Given the description of an element on the screen output the (x, y) to click on. 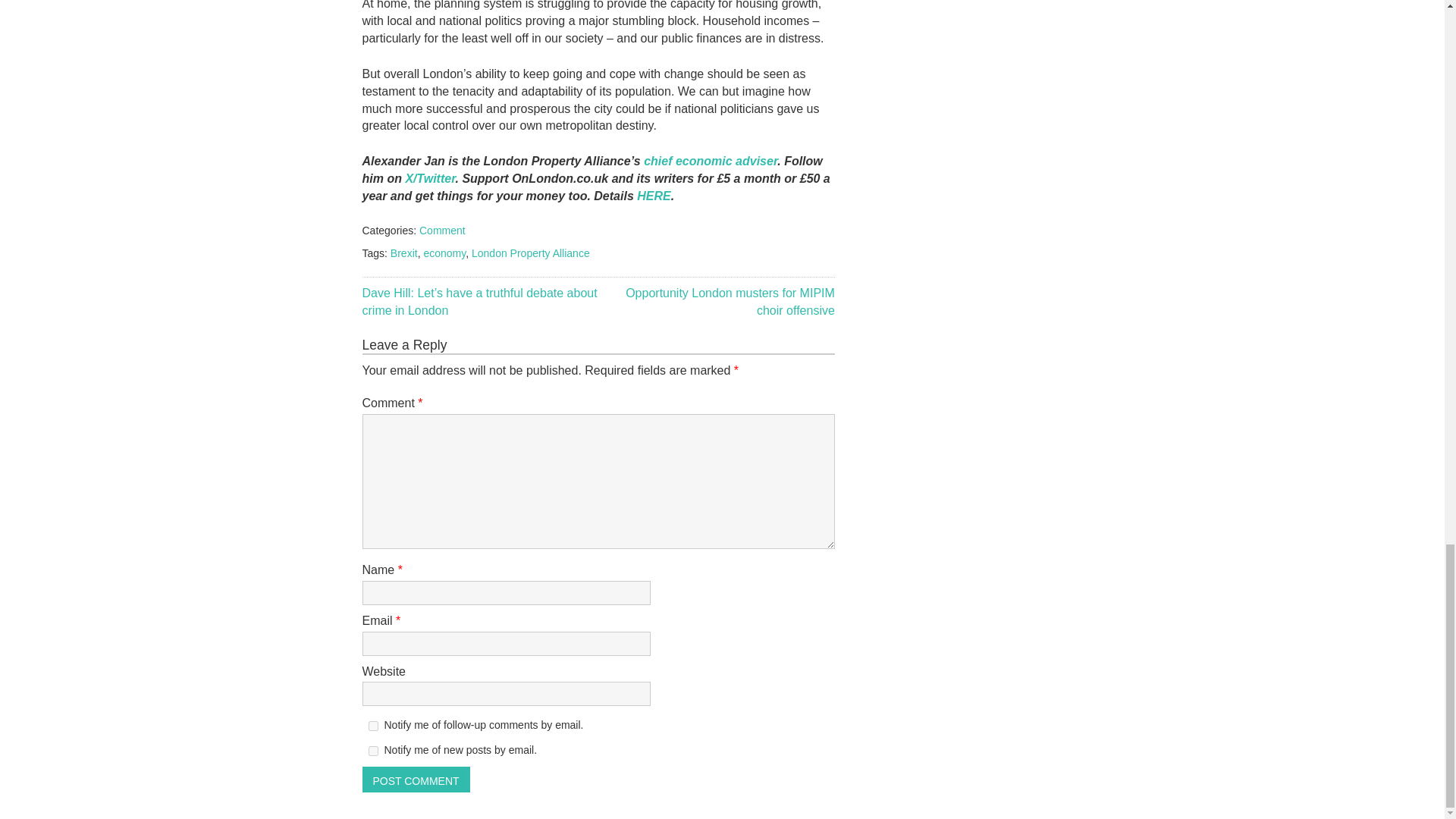
subscribe (373, 750)
Post Comment (416, 779)
subscribe (373, 726)
chief economic adviser (710, 160)
